Given the description of an element on the screen output the (x, y) to click on. 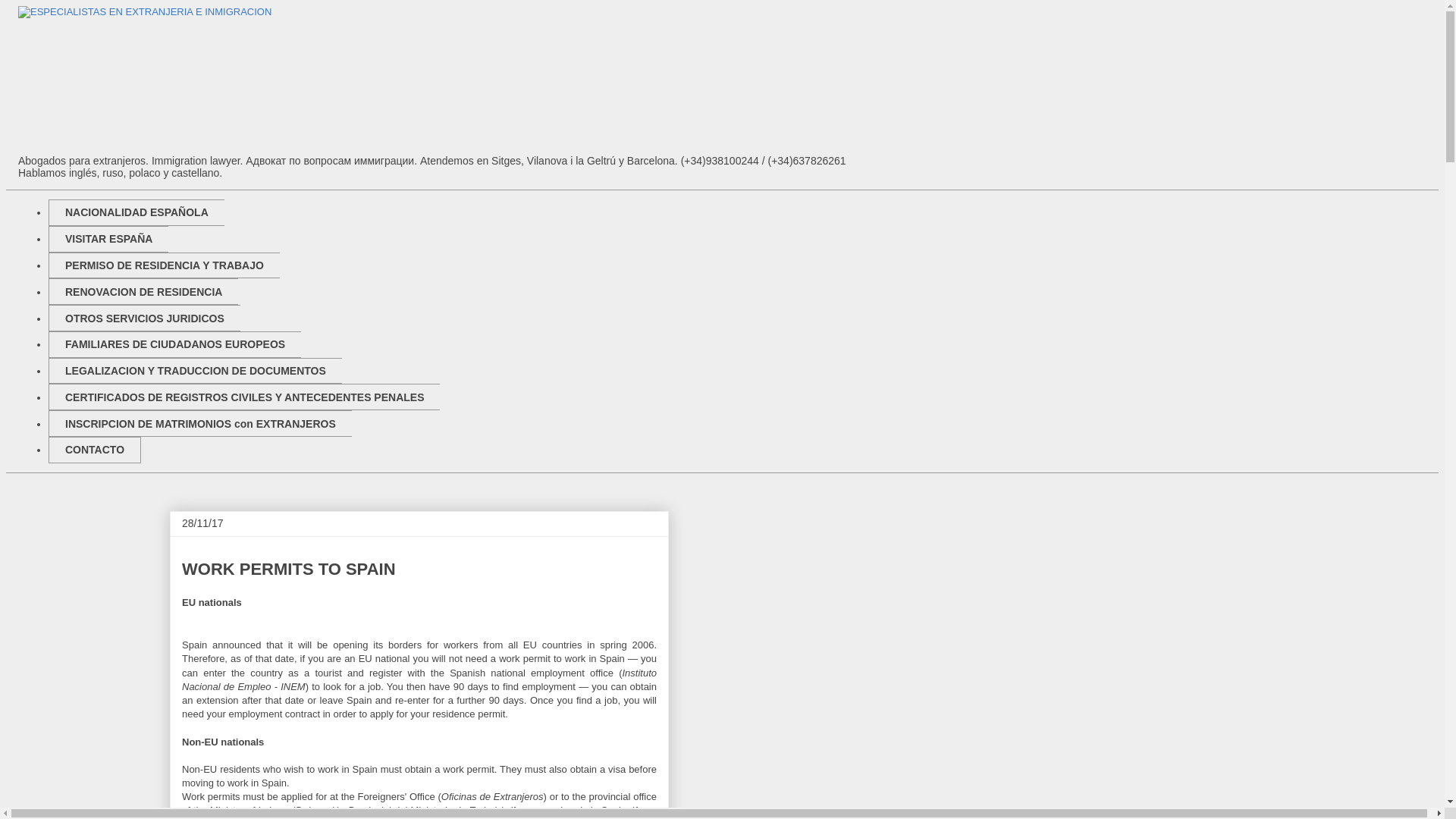
CERTIFICADOS DE REGISTROS CIVILES Y ANTECEDENTES PENALES (243, 397)
OTROS SERVICIOS JURIDICOS (144, 317)
INSCRIPCION DE MATRIMONIOS con EXTRANJEROS (200, 423)
CONTACTO (94, 449)
LEGALIZACION Y TRADUCCION DE DOCUMENTOS (195, 370)
FAMILIARES DE CIUDADANOS EUROPEOS (174, 344)
RENOVACION DE RESIDENCIA (143, 291)
PERMISO DE RESIDENCIA Y TRABAJO (163, 265)
